Given the description of an element on the screen output the (x, y) to click on. 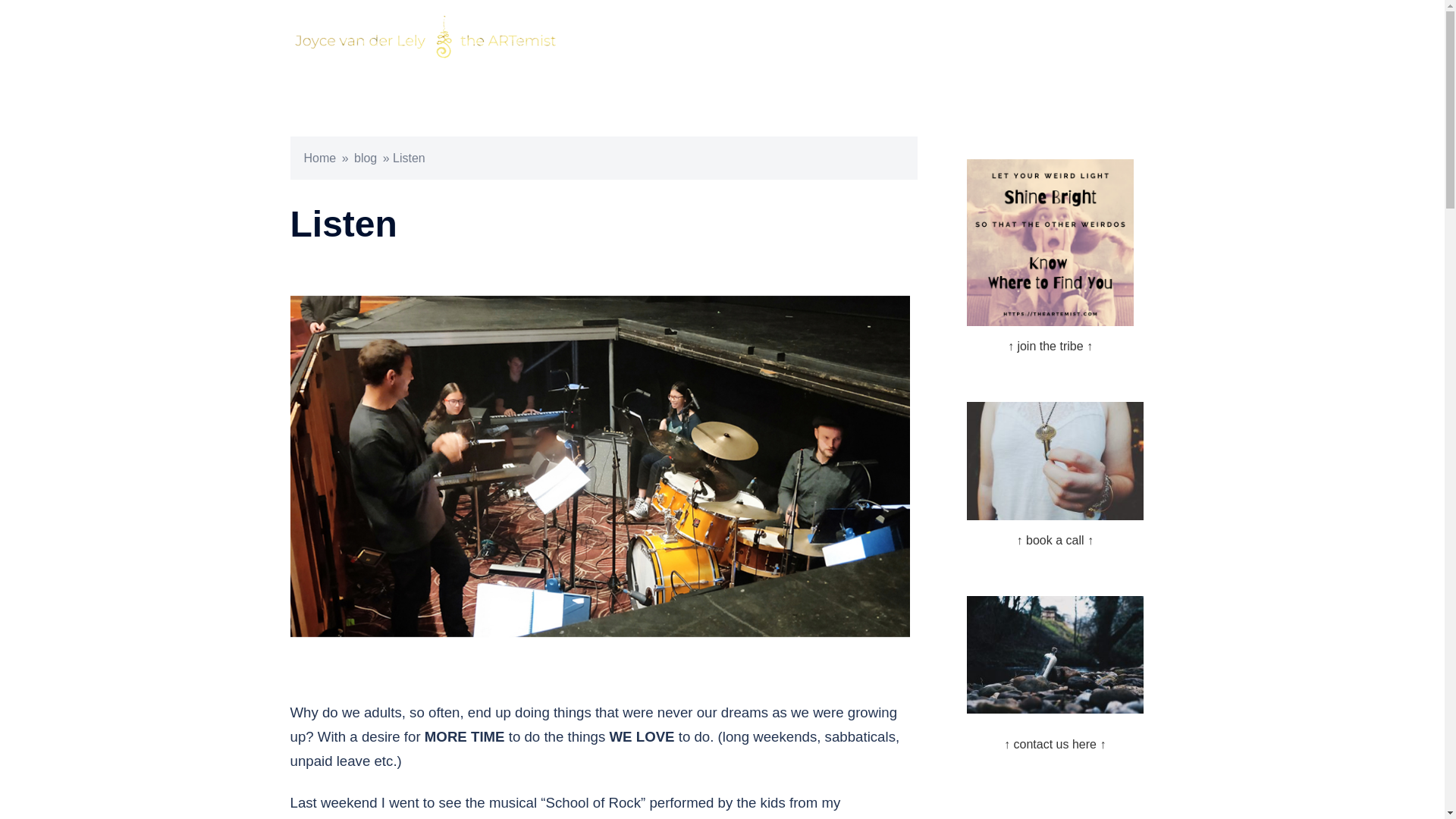
Home (319, 157)
blog (365, 157)
